Given the description of an element on the screen output the (x, y) to click on. 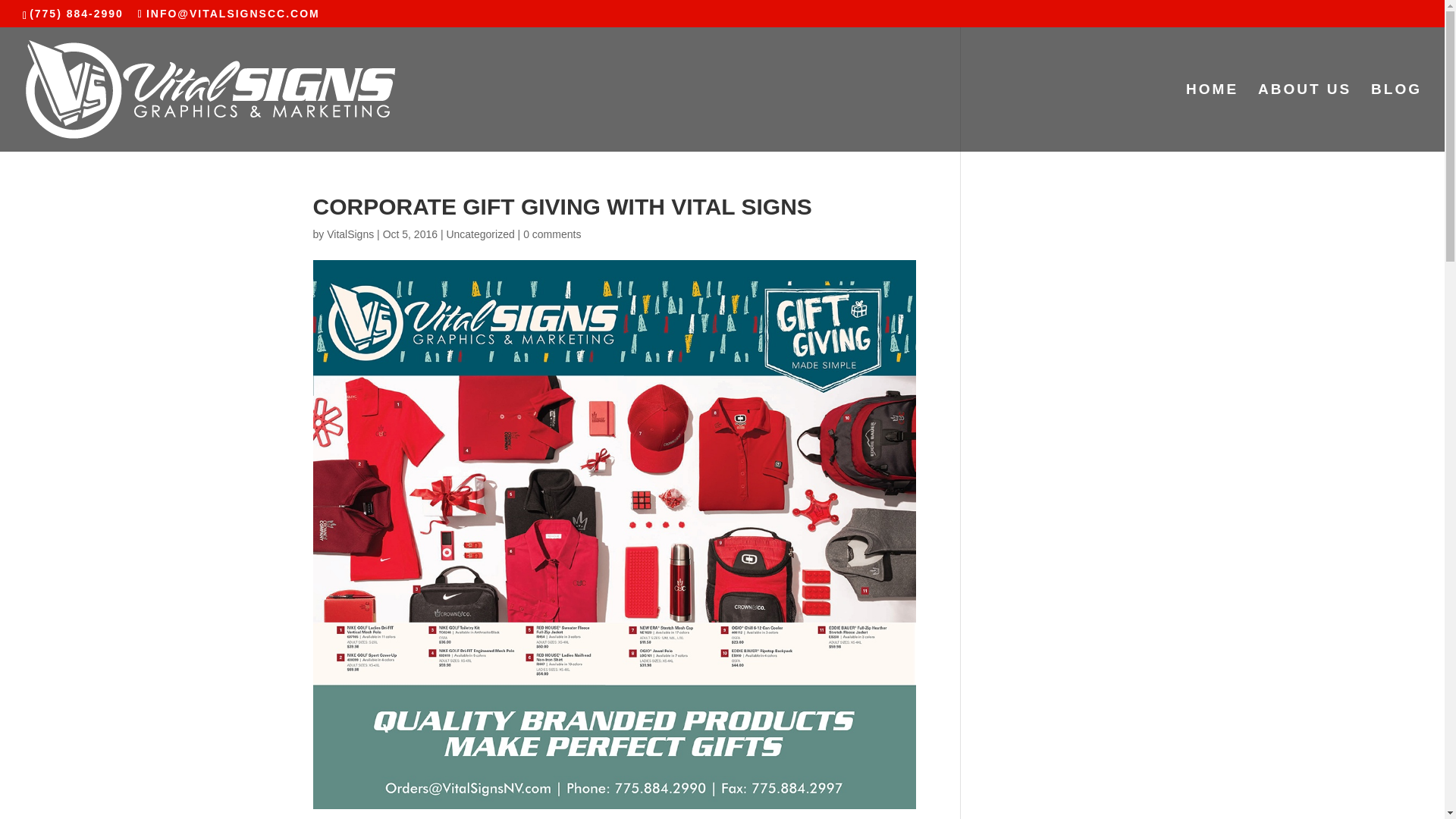
Posts by VitalSigns (350, 234)
VitalSigns (350, 234)
0 comments (551, 234)
ABOUT US (1304, 117)
Uncategorized (479, 234)
